Given the description of an element on the screen output the (x, y) to click on. 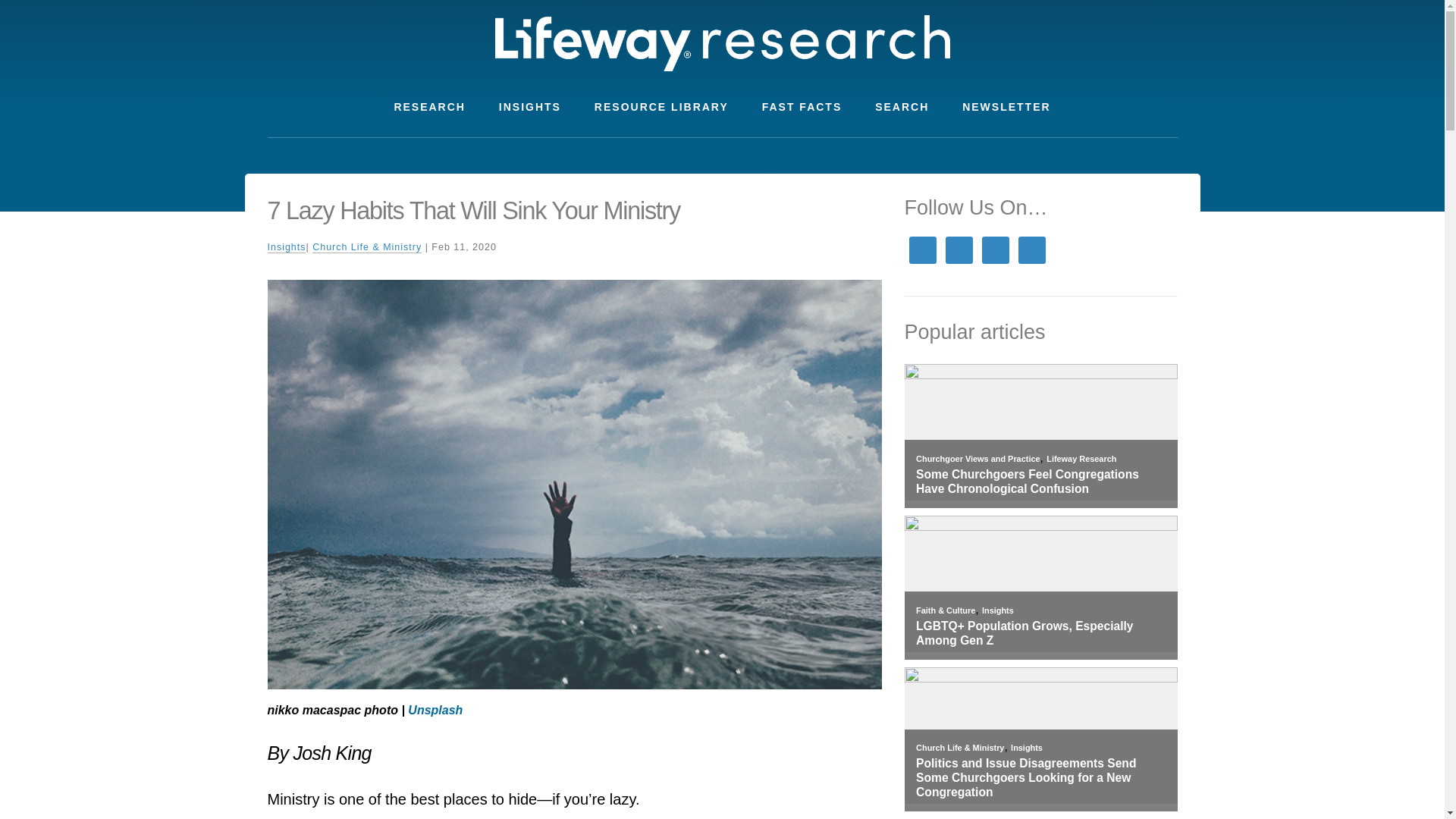
INSIGHTS (529, 106)
NEWSLETTER (1006, 106)
Insights (1026, 747)
RESOURCE LIBRARY (661, 106)
RESEARCH (429, 106)
Insights (285, 247)
Unsplash (435, 709)
Insights (997, 610)
FAST FACTS (801, 106)
Churchgoer Views and Practice (977, 458)
Lifeway Research (1081, 458)
SEARCH (901, 106)
